Given the description of an element on the screen output the (x, y) to click on. 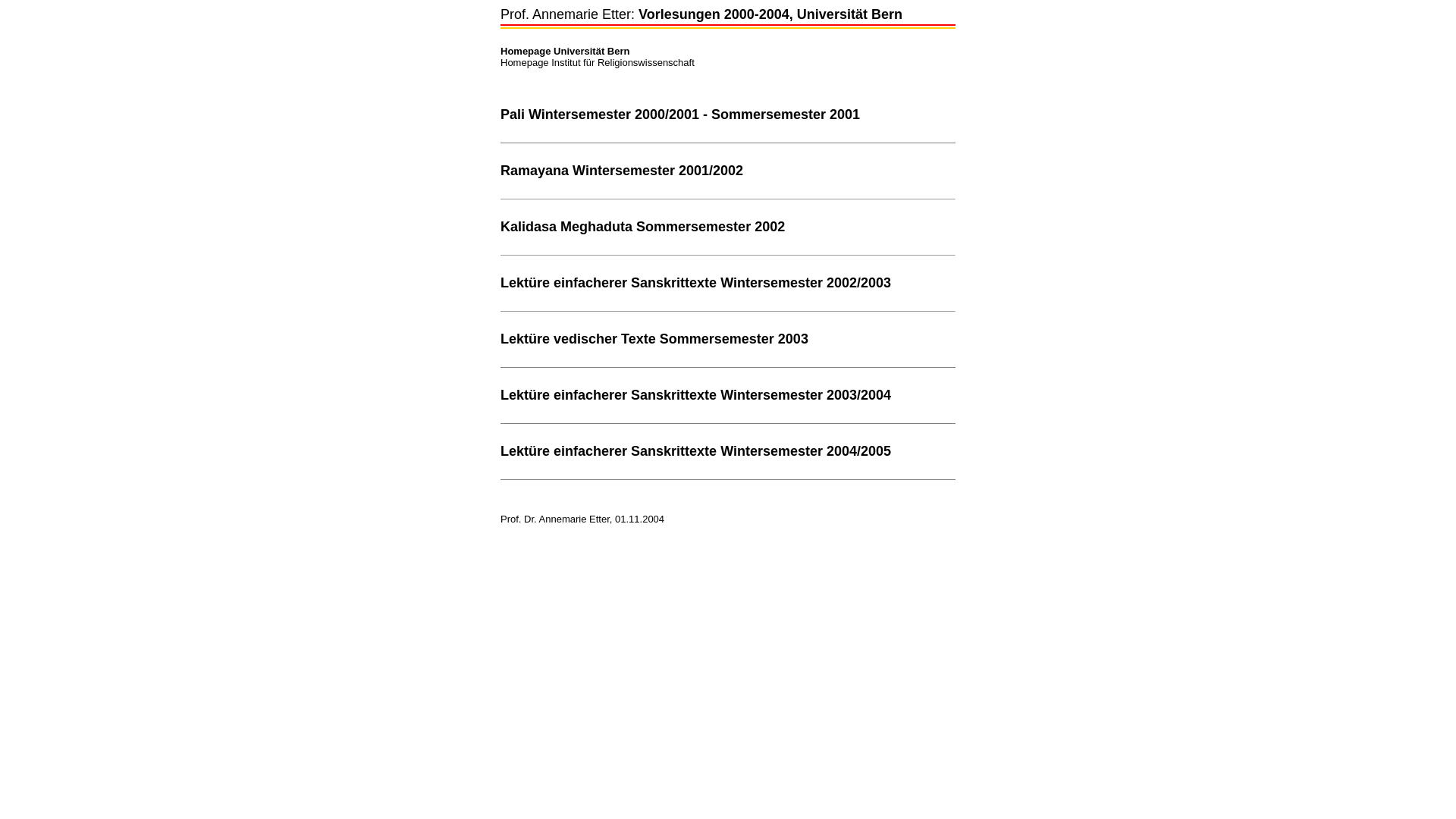
Prof. Dr. Annemarie Etter Element type: text (554, 518)
Pali Wintersemester 2000/2001 - Sommersemester 2001 Element type: text (679, 114)
Ramayana Wintersemester 2001/2002 Element type: text (621, 170)
Kalidasa Meghaduta Sommersemester 2002 Element type: text (642, 226)
